Given the description of an element on the screen output the (x, y) to click on. 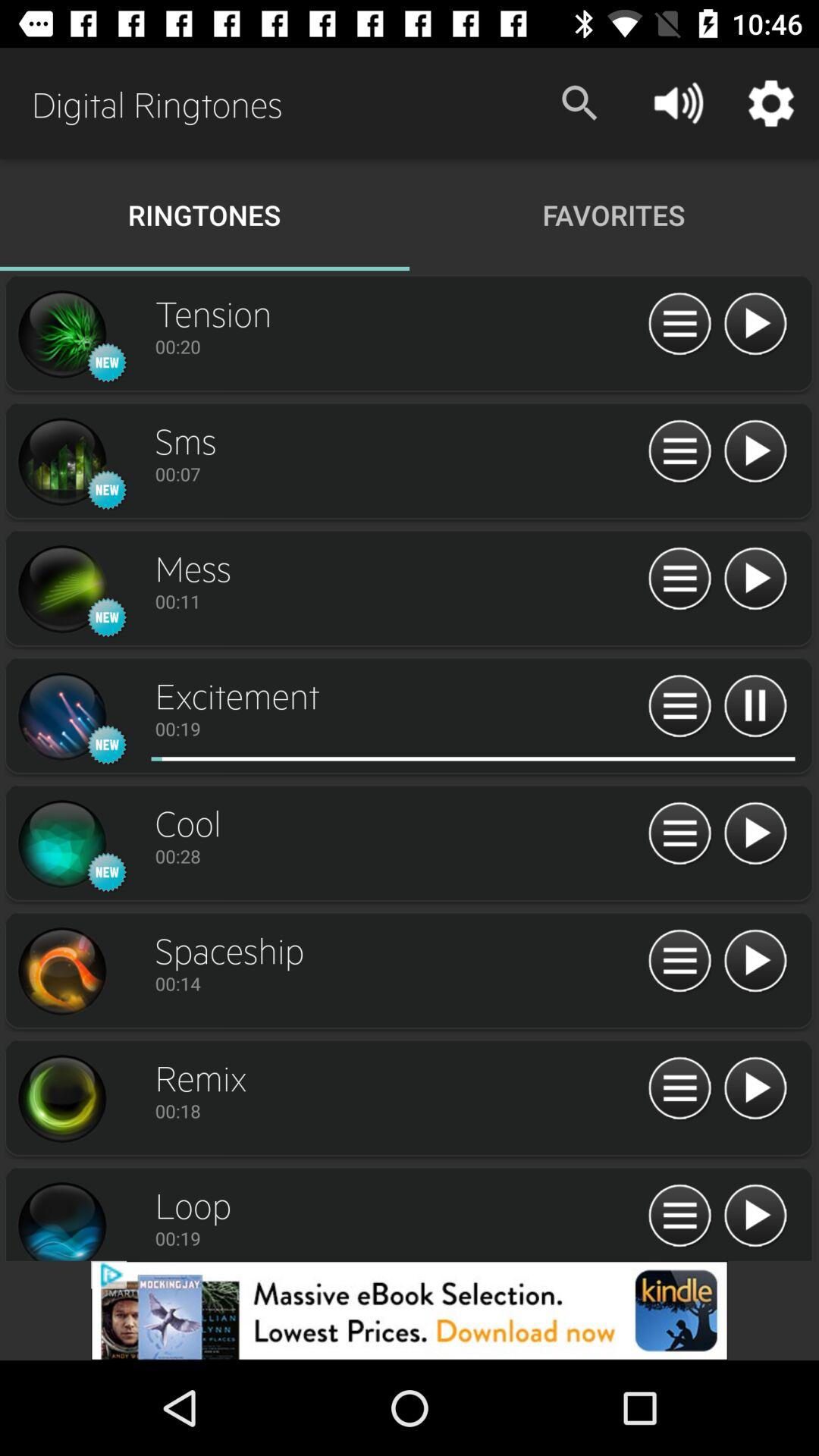
push play button (755, 834)
